Given the description of an element on the screen output the (x, y) to click on. 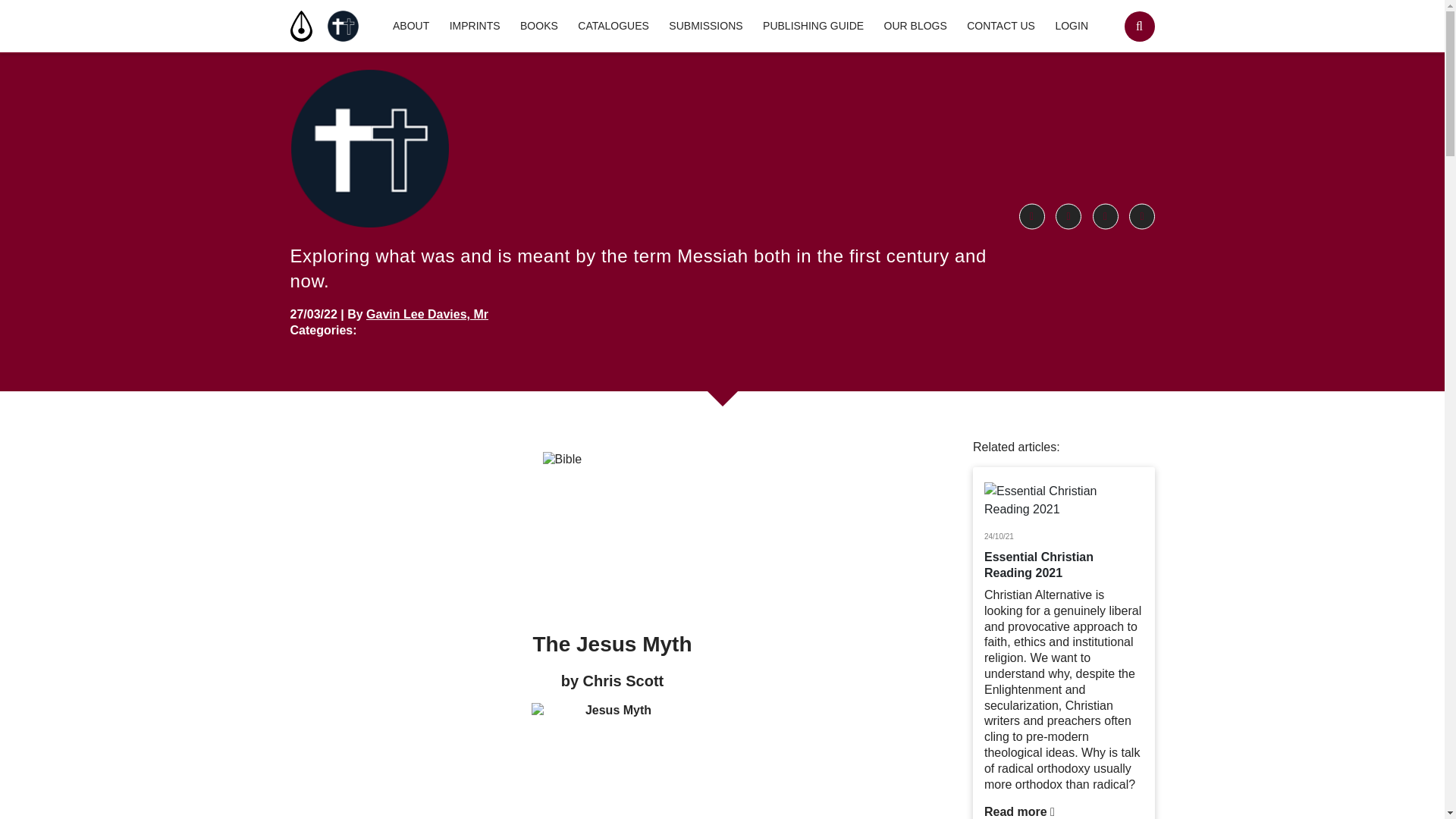
SUBMISSIONS (705, 26)
PUBLISHING GUIDE (812, 26)
CATALOGUES (613, 26)
OUR BLOGS (915, 26)
CONTACT US (1000, 26)
IMPRINTS (474, 26)
